Given the description of an element on the screen output the (x, y) to click on. 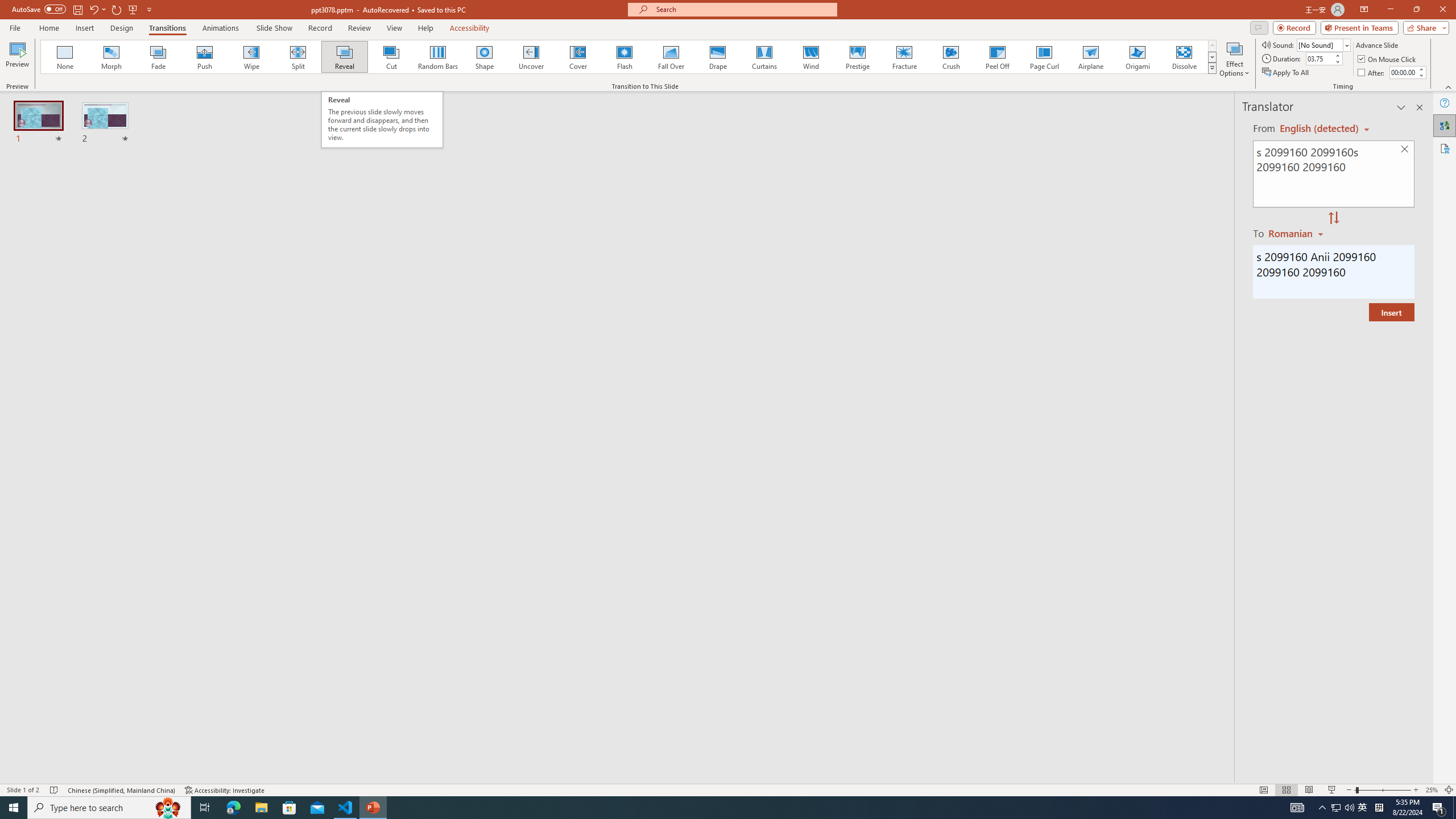
Wind (810, 56)
Morph (111, 56)
